Given the description of an element on the screen output the (x, y) to click on. 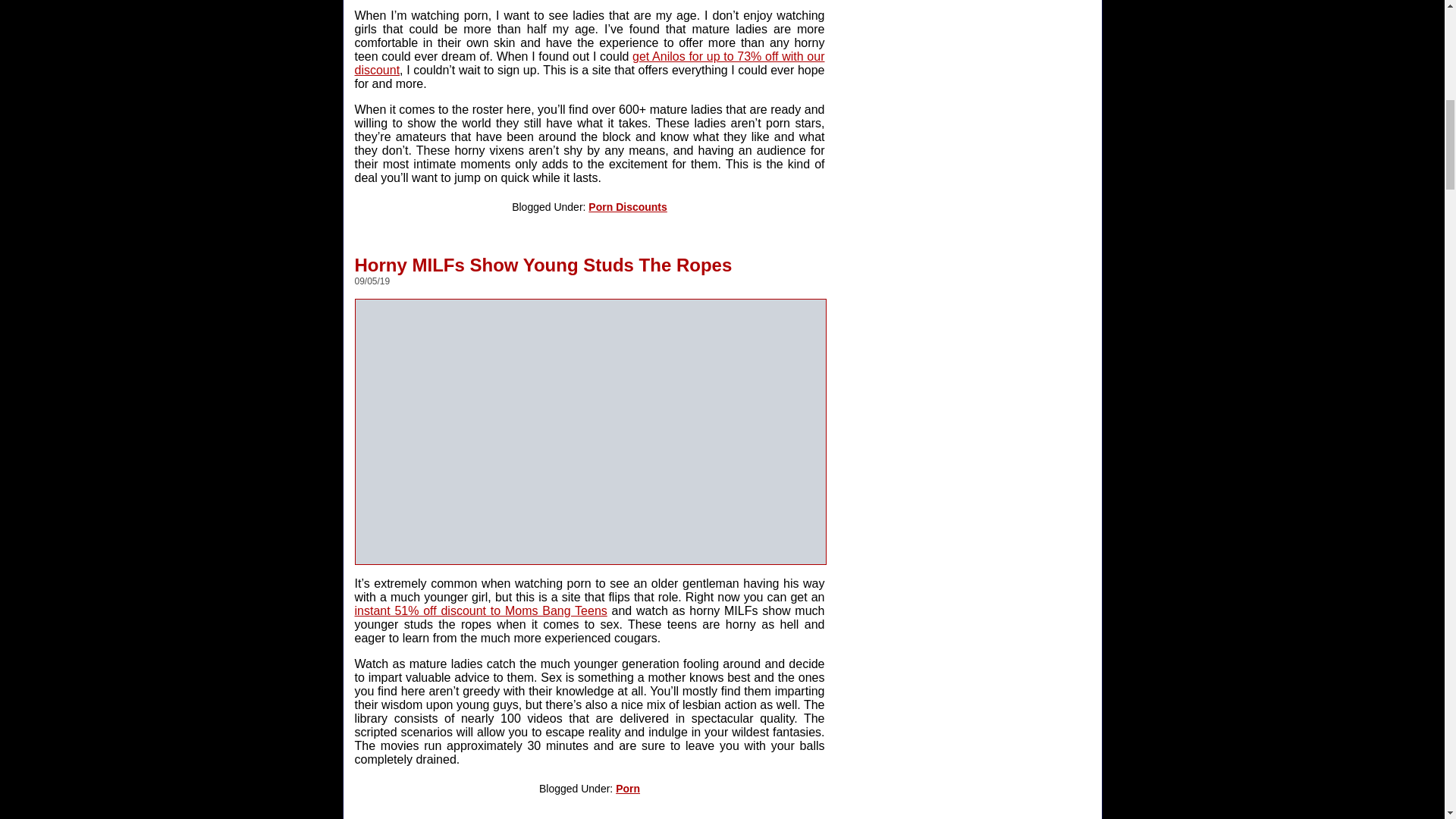
Porn (627, 788)
Porn Discounts (627, 206)
Horny MILFs Show Young Studs The Ropes (543, 259)
